Given the description of an element on the screen output the (x, y) to click on. 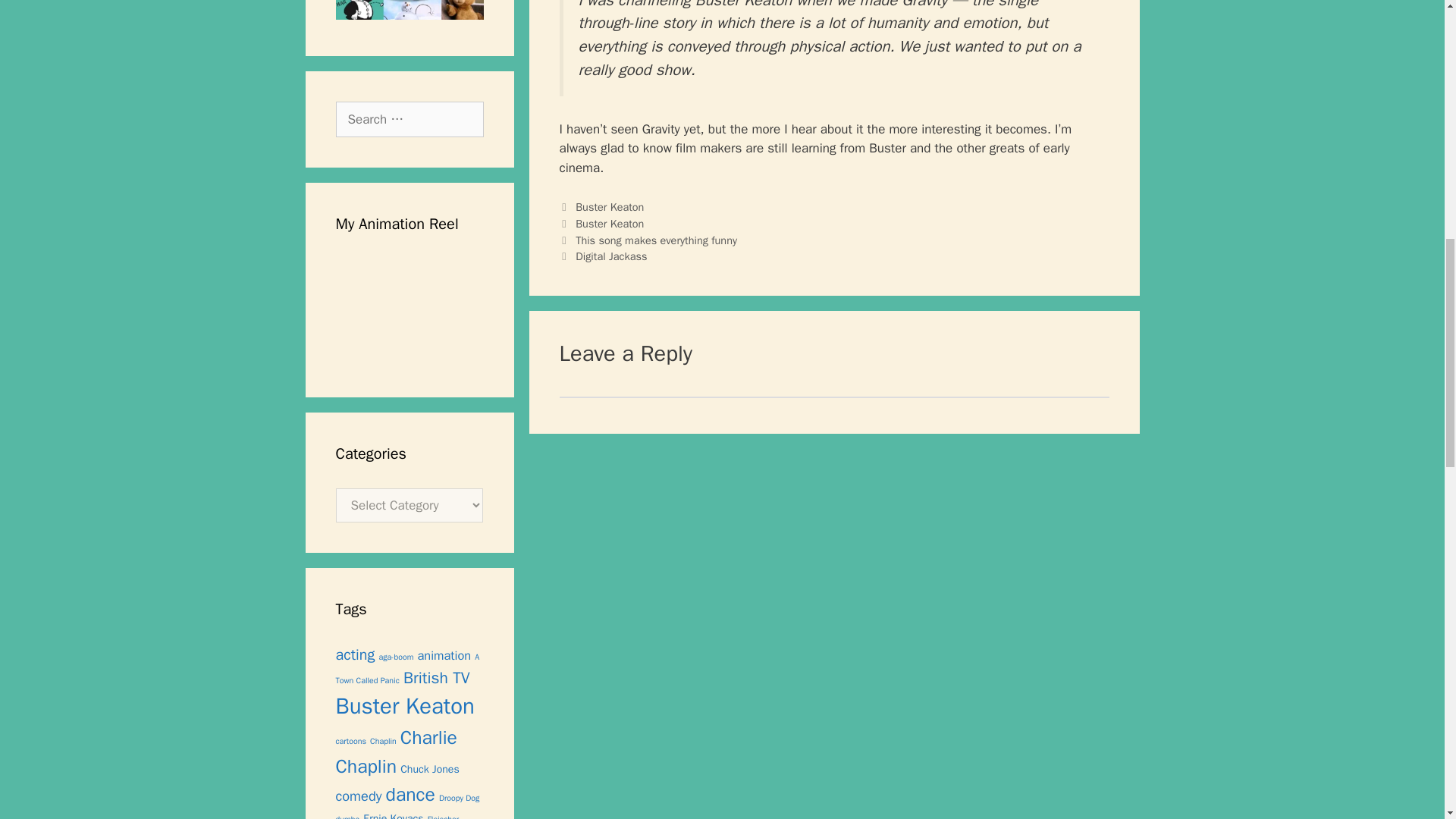
Droopy Dog (459, 798)
Buster Keaton (609, 206)
dance (410, 793)
comedy (357, 795)
A Town Called Panic (406, 668)
Chuck Jones (430, 767)
Digital Jackass (610, 255)
cartoons (349, 741)
Search for: (408, 119)
Ernie Kovacs (392, 815)
Fleischer (444, 816)
Buster Keaton (404, 706)
Charlie Chaplin (395, 751)
Chaplin (382, 741)
aga-boom (395, 656)
